Given the description of an element on the screen output the (x, y) to click on. 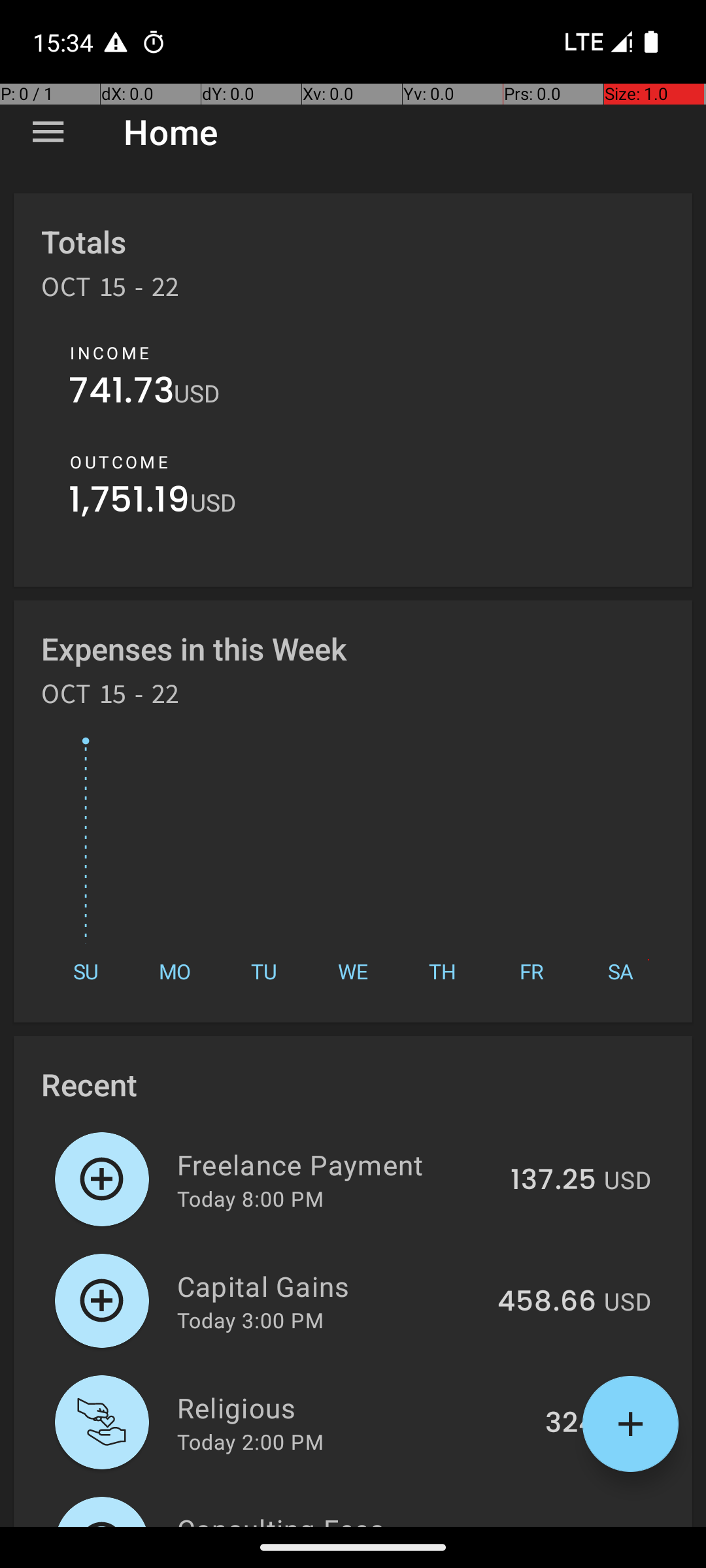
741.73 Element type: android.widget.TextView (120, 393)
1,751.19 Element type: android.widget.TextView (129, 502)
Freelance Payment Element type: android.widget.TextView (336, 1164)
Today 8:00 PM Element type: android.widget.TextView (250, 1198)
137.25 Element type: android.widget.TextView (552, 1180)
Capital Gains Element type: android.widget.TextView (329, 1285)
Today 3:00 PM Element type: android.widget.TextView (250, 1320)
458.66 Element type: android.widget.TextView (546, 1301)
Religious Element type: android.widget.TextView (353, 1407)
Today 2:00 PM Element type: android.widget.TextView (250, 1441)
324 Element type: android.widget.TextView (570, 1423)
Consulting Fees Element type: android.widget.TextView (334, 1518)
145.82 Element type: android.widget.TextView (551, 1524)
